Given the description of an element on the screen output the (x, y) to click on. 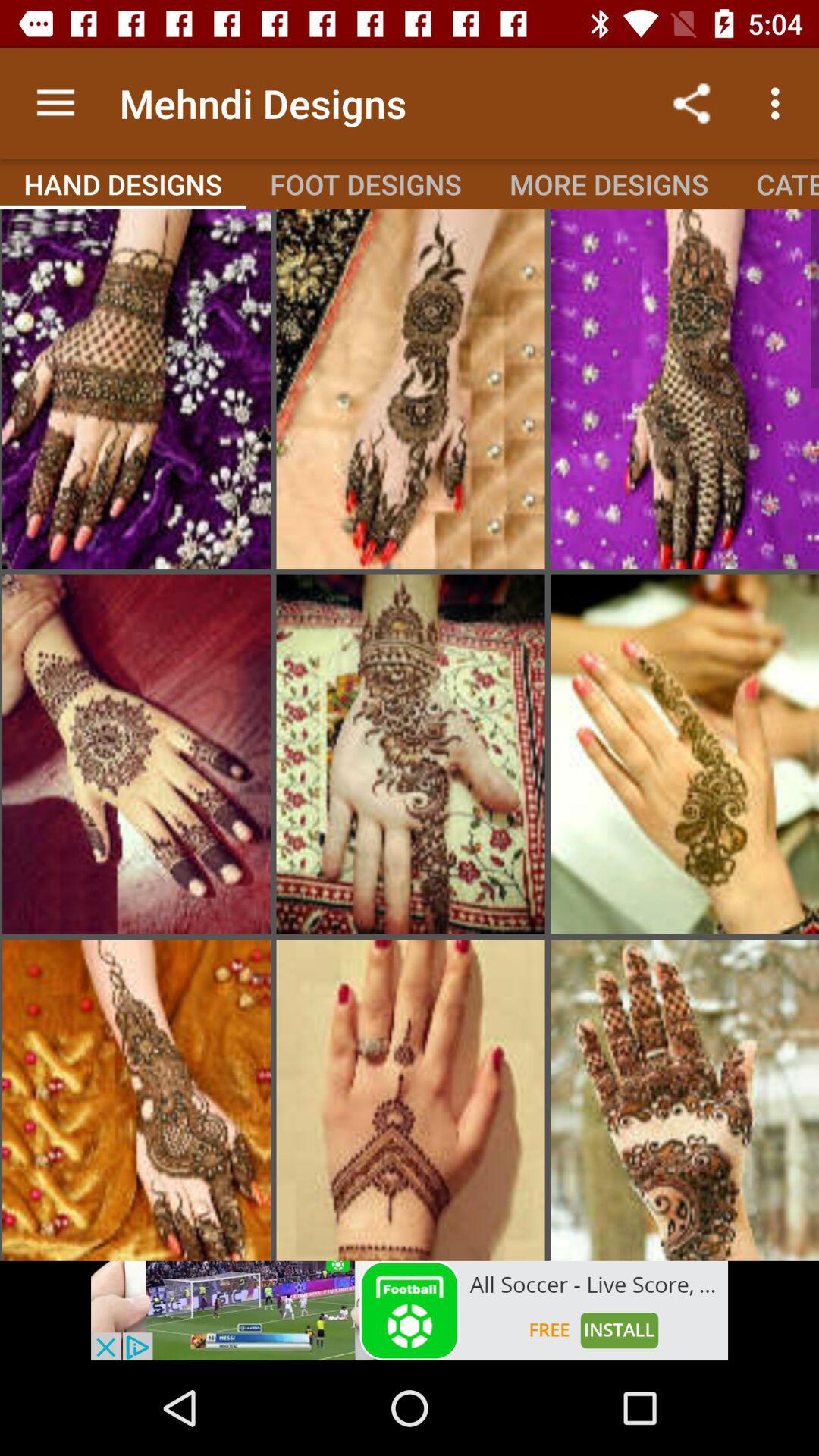
select pictures (410, 753)
